Given the description of an element on the screen output the (x, y) to click on. 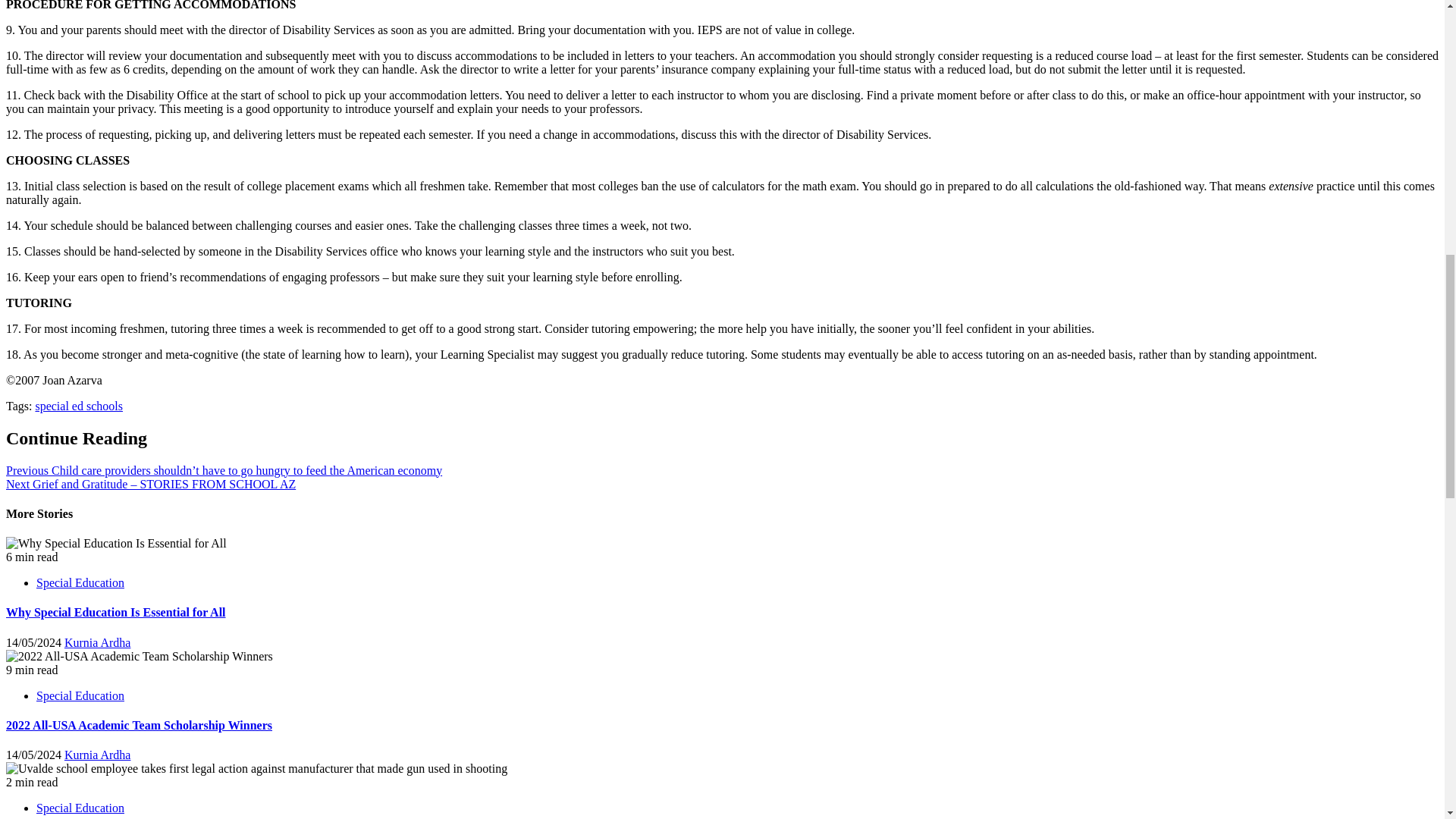
Kurnia Ardha (97, 642)
Special Education (79, 695)
special ed schools (78, 405)
Why Special Education Is Essential for All (116, 543)
Why Special Education Is Essential for All (115, 612)
Special Education (79, 582)
2022 All-USA Academic Team Scholarship Winners (139, 656)
